Given the description of an element on the screen output the (x, y) to click on. 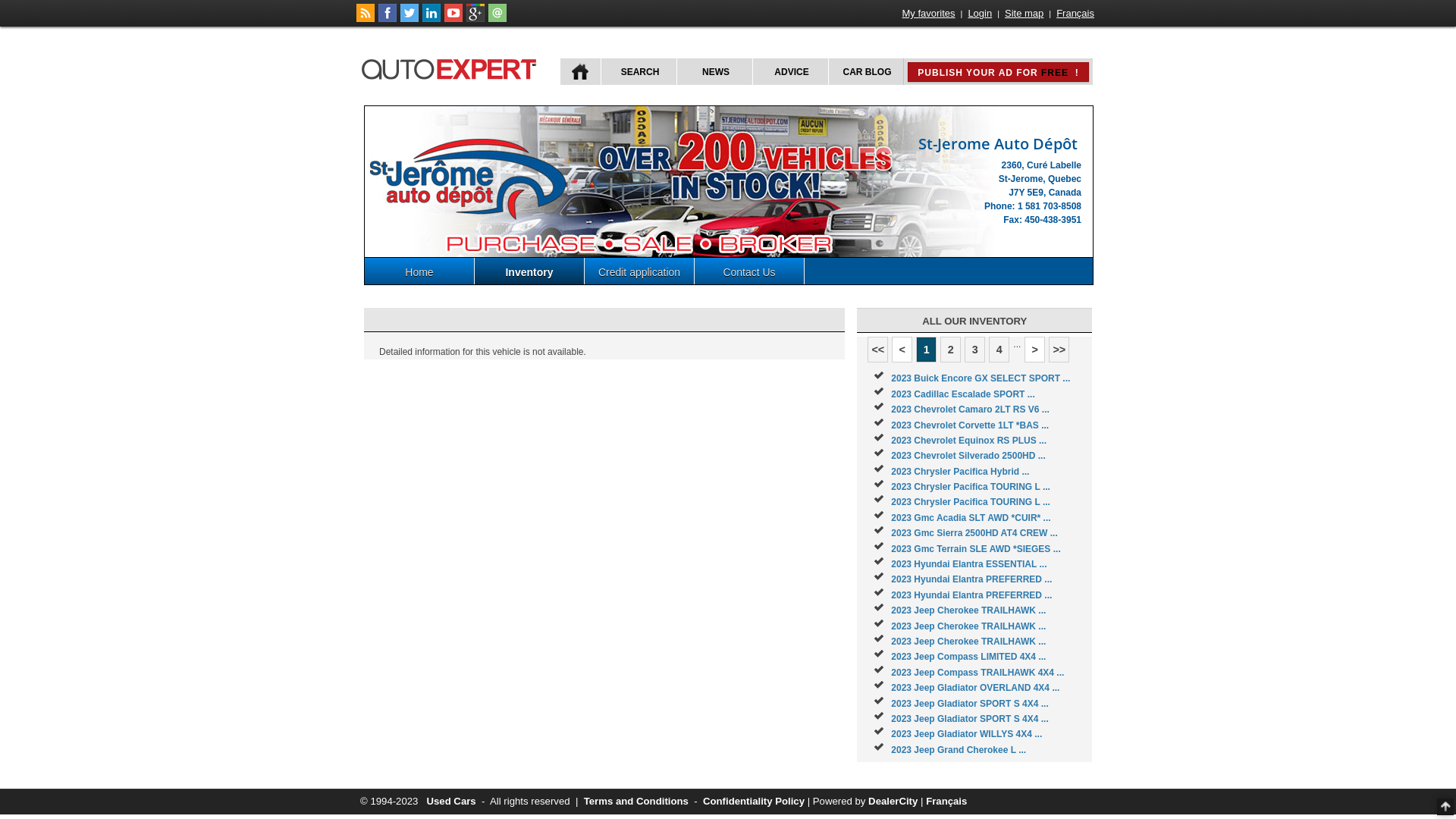
HOME Element type: text (580, 71)
2023 Chevrolet Silverado 2500HD ... Element type: text (967, 455)
2023 Jeep Cherokee TRAILHAWK ... Element type: text (968, 610)
DealerCity Element type: text (892, 800)
Used Cars Element type: text (450, 800)
2023 Jeep Gladiator SPORT S 4X4 ... Element type: text (969, 718)
2023 Jeep Grand Cherokee L ... Element type: text (958, 749)
2023 Hyundai Elantra PREFERRED ... Element type: text (971, 579)
Follow autoExpert.ca on Facebook Element type: hover (387, 18)
2023 Jeep Gladiator SPORT S 4X4 ... Element type: text (969, 703)
2023 Chevrolet Equinox RS PLUS ... Element type: text (968, 440)
2023 Cadillac Escalade SPORT ... Element type: text (962, 394)
< Element type: text (901, 349)
Follow Publications Le Guide Inc. on LinkedIn Element type: hover (431, 18)
2023 Jeep Cherokee TRAILHAWK ... Element type: text (968, 626)
2023 Chevrolet Camaro 2LT RS V6 ... Element type: text (970, 409)
Site map Element type: text (1023, 13)
Home Element type: text (419, 270)
2023 Gmc Terrain SLE AWD *SIEGES ... Element type: text (975, 548)
2023 Chrysler Pacifica Hybrid ... Element type: text (960, 471)
2023 Jeep Gladiator OVERLAND 4X4 ... Element type: text (975, 687)
Follow autoExpert.ca on Youtube Element type: hover (453, 18)
Credit application Element type: text (639, 270)
CAR BLOG Element type: text (865, 71)
<< Element type: text (877, 349)
Follow car news on autoExpert.ca Element type: hover (365, 18)
2023 Chrysler Pacifica TOURING L ... Element type: text (970, 501)
2023 Hyundai Elantra PREFERRED ... Element type: text (971, 594)
4 Element type: text (998, 349)
>> Element type: text (1058, 349)
PUBLISH YOUR AD FOR FREE  ! Element type: text (997, 71)
My favorites Element type: text (928, 13)
2023 Gmc Sierra 2500HD AT4 CREW ... Element type: text (974, 532)
Contact Us Element type: text (749, 270)
Follow autoExpert.ca on Google Plus Element type: hover (475, 18)
ADVICE Element type: text (790, 71)
Follow autoExpert.ca on Twitter Element type: hover (409, 18)
> Element type: text (1034, 349)
2023 Jeep Gladiator WILLYS 4X4 ... Element type: text (966, 733)
Login Element type: text (979, 13)
Inventory Element type: text (529, 270)
2023 Jeep Compass LIMITED 4X4 ... Element type: text (968, 656)
1 Element type: text (926, 349)
autoExpert.ca Element type: text (451, 66)
Contact autoExpert.ca Element type: hover (497, 18)
2023 Gmc Acadia SLT AWD *CUIR* ... Element type: text (970, 517)
Confidentiality Policy Element type: text (753, 800)
2023 Hyundai Elantra ESSENTIAL ... Element type: text (968, 563)
NEWS Element type: text (714, 71)
2023 Jeep Cherokee TRAILHAWK ... Element type: text (968, 641)
3 Element type: text (974, 349)
2 Element type: text (950, 349)
2023 Chevrolet Corvette 1LT *BAS ... Element type: text (969, 425)
Terms and Conditions Element type: text (635, 800)
2023 Jeep Compass TRAILHAWK 4X4 ... Element type: text (977, 672)
SEARCH Element type: text (638, 71)
2023 Buick Encore GX SELECT SPORT ... Element type: text (980, 378)
2023 Chrysler Pacifica TOURING L ... Element type: text (970, 486)
